Given the description of an element on the screen output the (x, y) to click on. 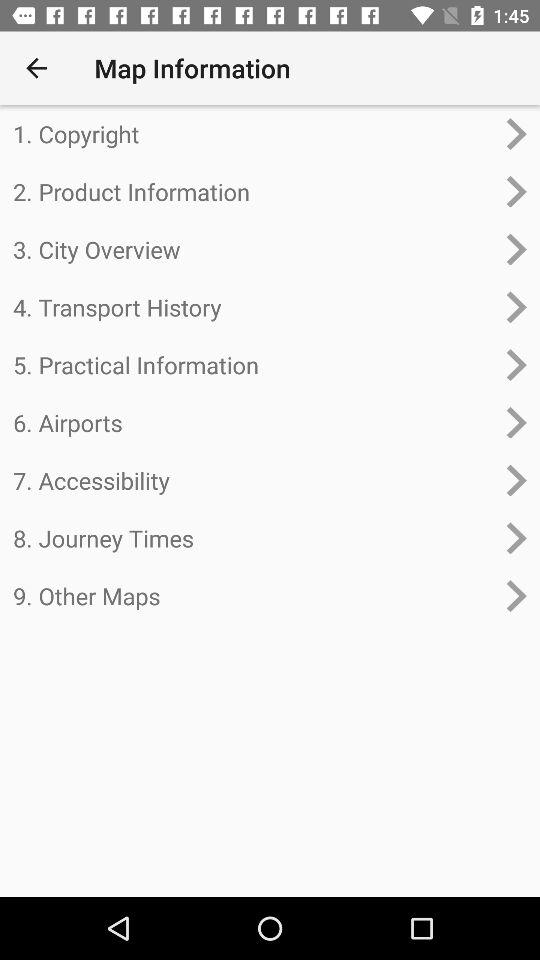
choose 2. product information (253, 191)
